Given the description of an element on the screen output the (x, y) to click on. 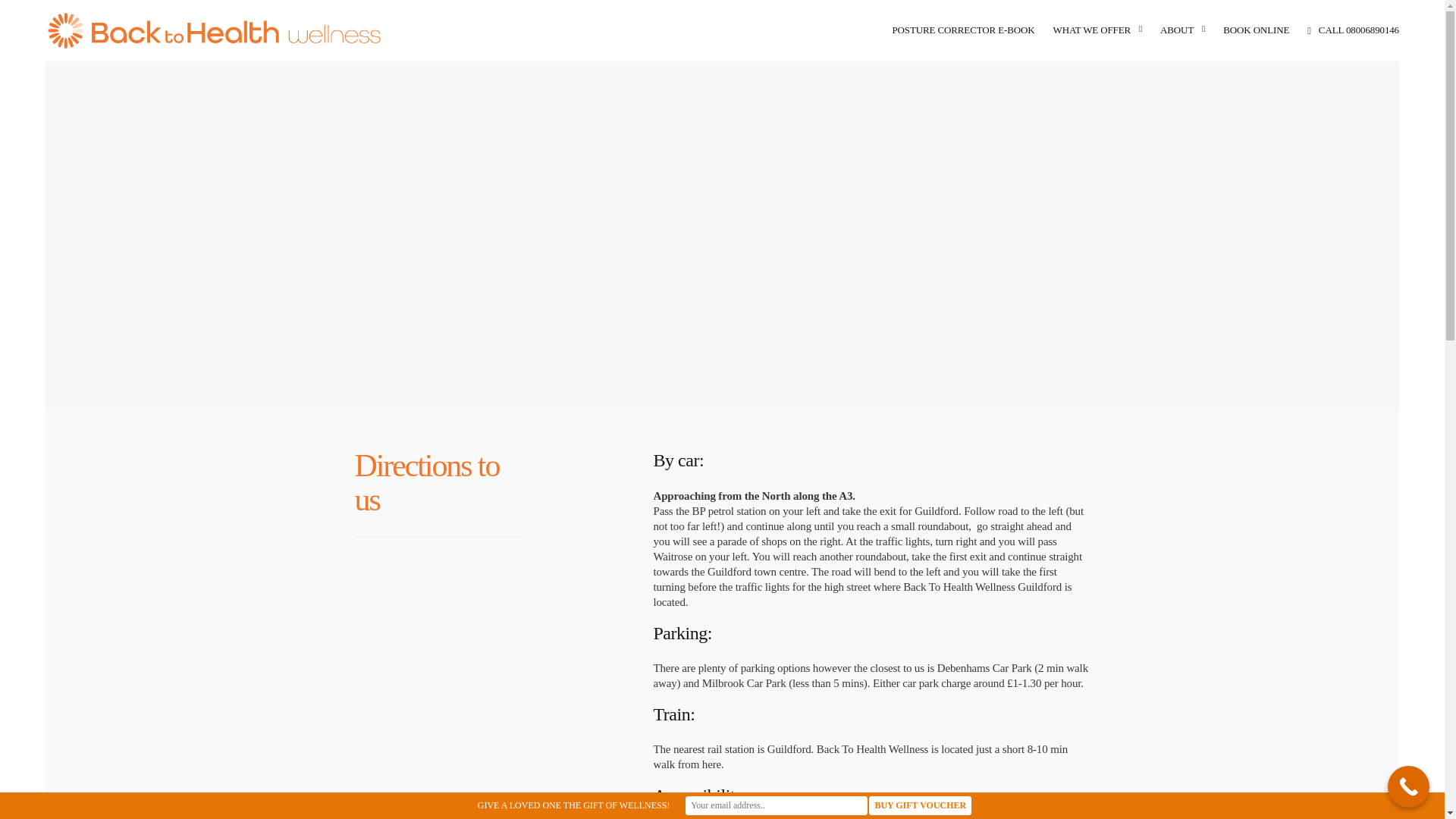
WHAT WE OFFER (1096, 29)
Buy Gift Voucher (920, 805)
BOOK ONLINE (1255, 29)
Buy Gift Voucher (920, 805)
CALL 08006890146 (1353, 30)
ABOUT (1182, 29)
POSTURE CORRECTOR E-BOOK (962, 29)
complete (438, 653)
